Given the description of an element on the screen output the (x, y) to click on. 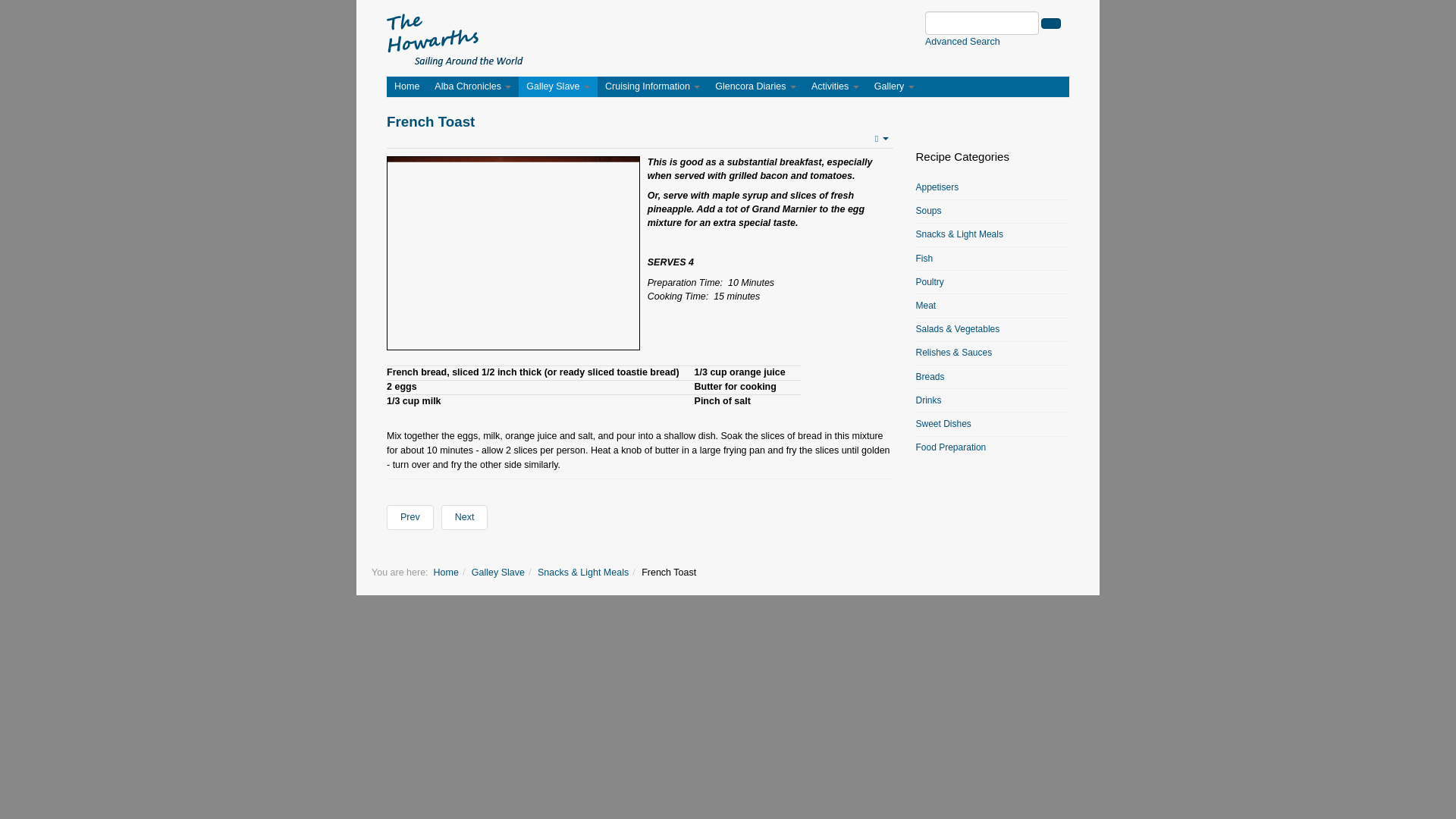
The Howarths - Sailing Around The World (455, 38)
Advanced Search (962, 41)
Lovely Meal (513, 253)
